Given the description of an element on the screen output the (x, y) to click on. 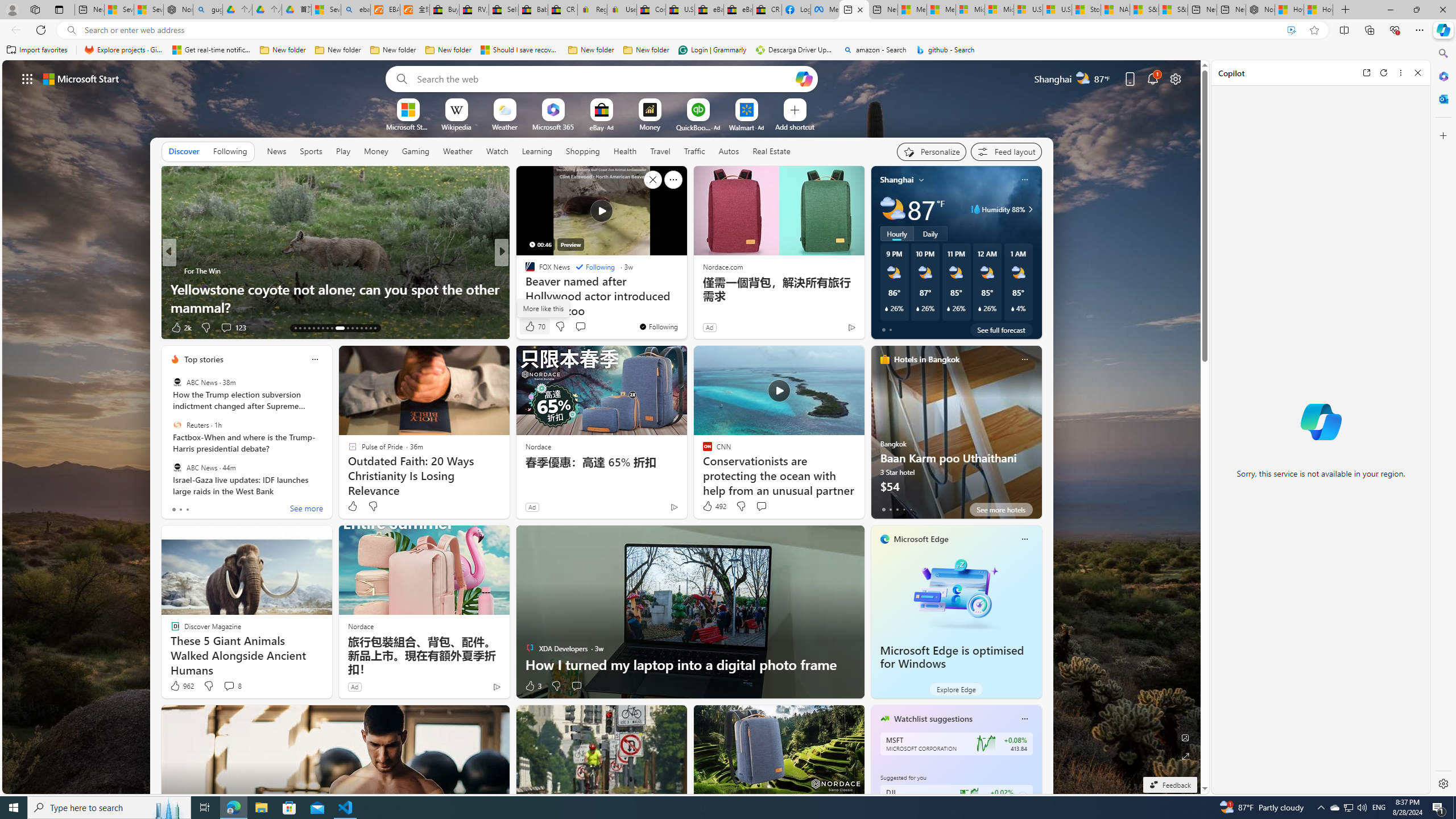
ABC News (176, 466)
How to Use a Monitor With Your Closed Laptop (1318, 9)
Partly cloudy (892, 208)
AutomationID: tab-21 (331, 328)
29 Like (530, 327)
View comments 6 Comment (580, 327)
Open link in new tab (1366, 72)
